Given the description of an element on the screen output the (x, y) to click on. 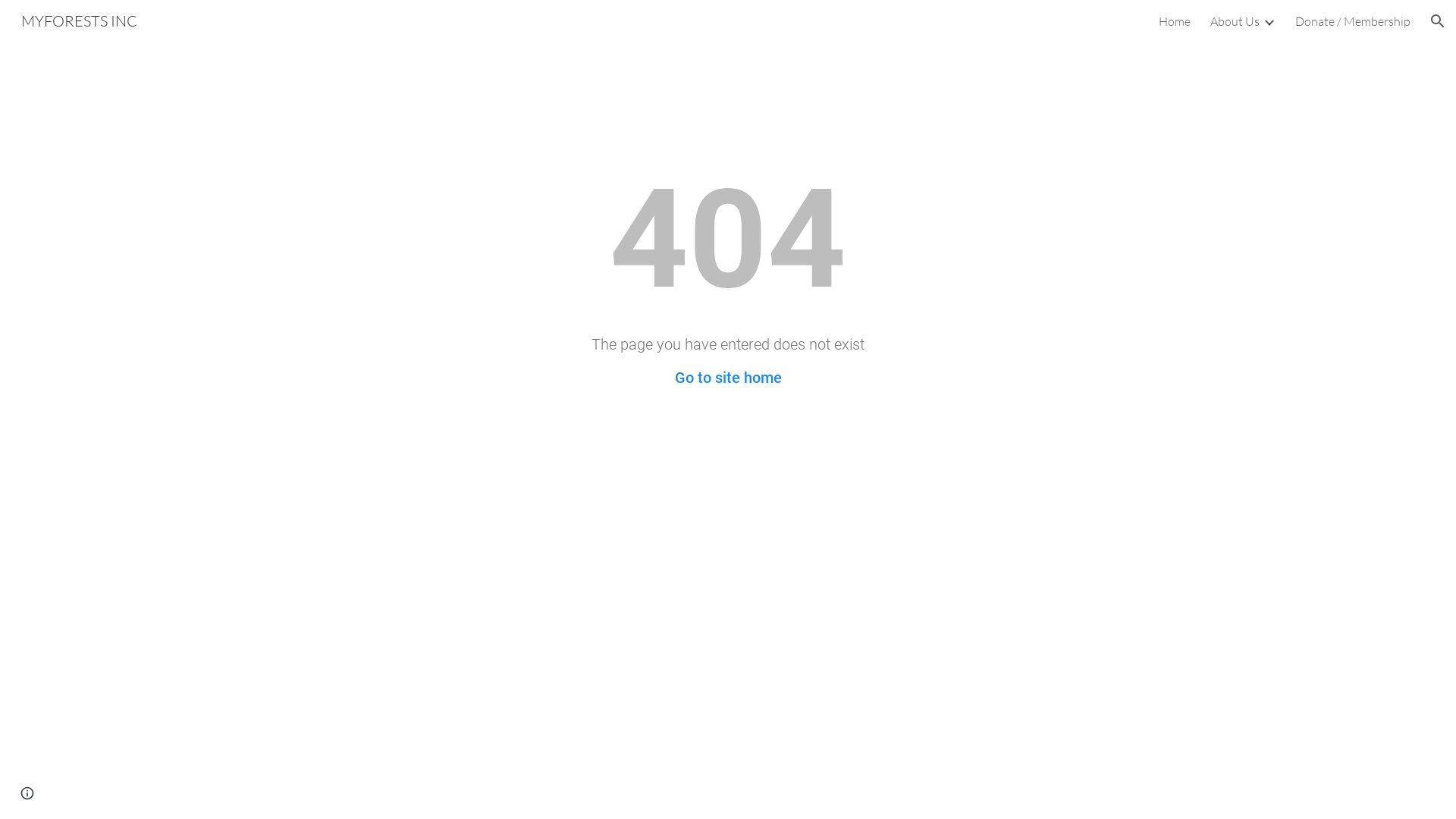
About Us Element type: text (1234, 20)
MYFORESTS INC Element type: text (79, 18)
Expand/Collapse Element type: hover (1268, 20)
Home Element type: text (1174, 20)
Donate / Membership Element type: text (1352, 20)
Go to site home Element type: text (727, 377)
